Given the description of an element on the screen output the (x, y) to click on. 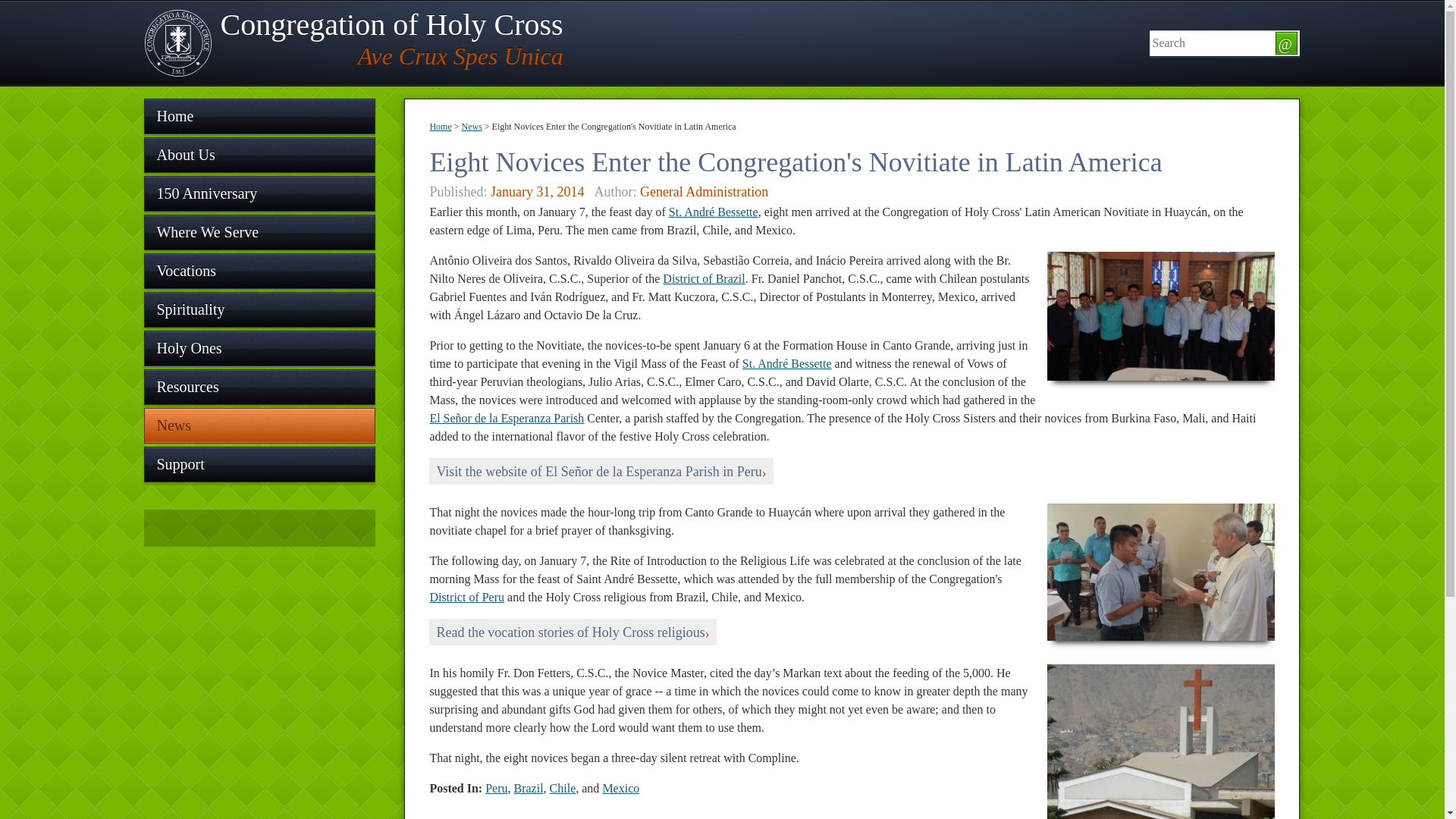
Home (440, 126)
Brazil (528, 788)
Mexico (620, 788)
Spirituality (259, 309)
Instagram (230, 527)
District of Brazil (703, 278)
Chile (563, 788)
Resources (259, 386)
Home (259, 116)
Holy Ones (259, 348)
